Given the description of an element on the screen output the (x, y) to click on. 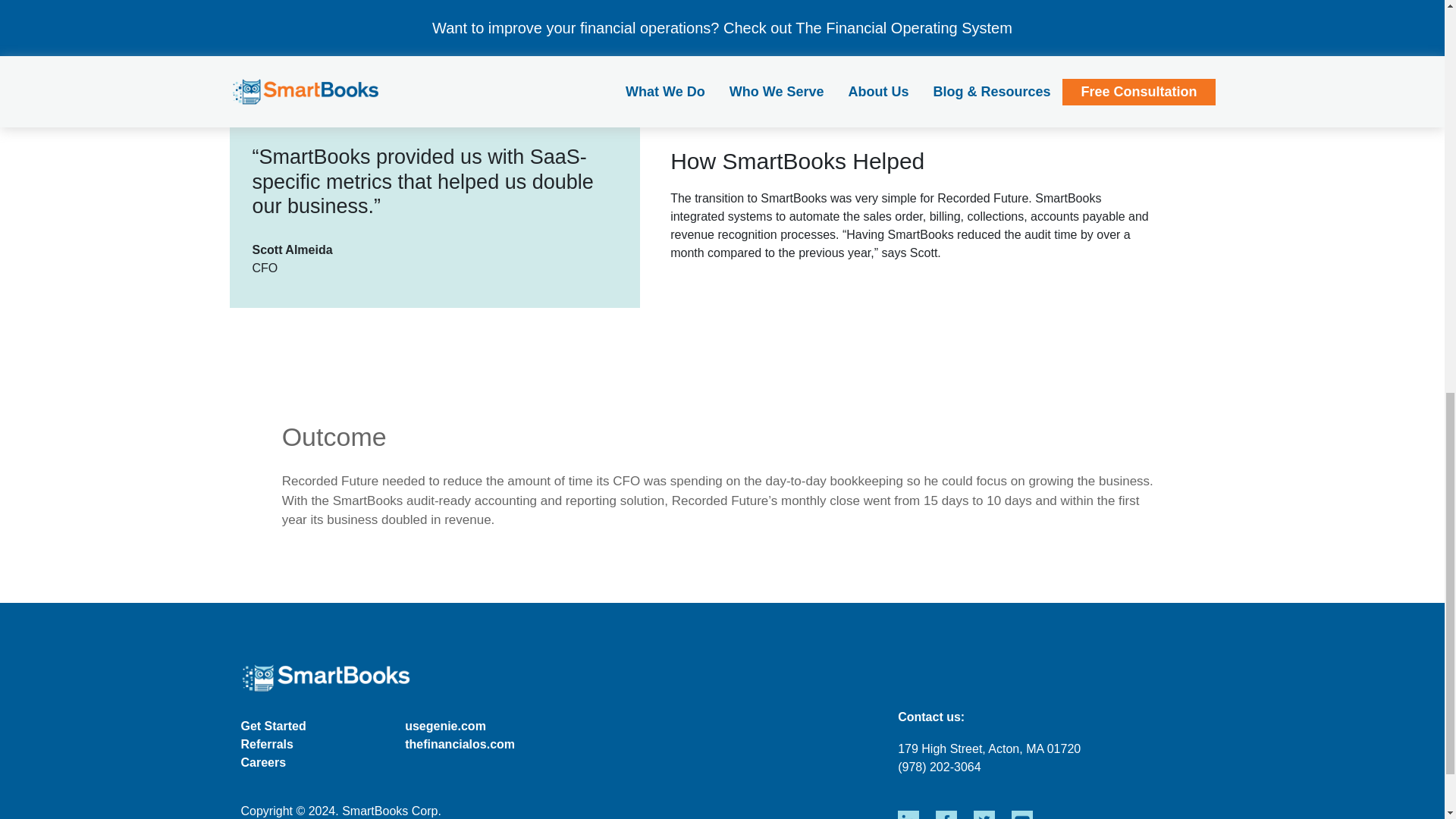
thefinancialos.com (459, 744)
usegenie.com (445, 725)
Referrals (267, 744)
Careers (263, 762)
Get Started (273, 725)
